Given the description of an element on the screen output the (x, y) to click on. 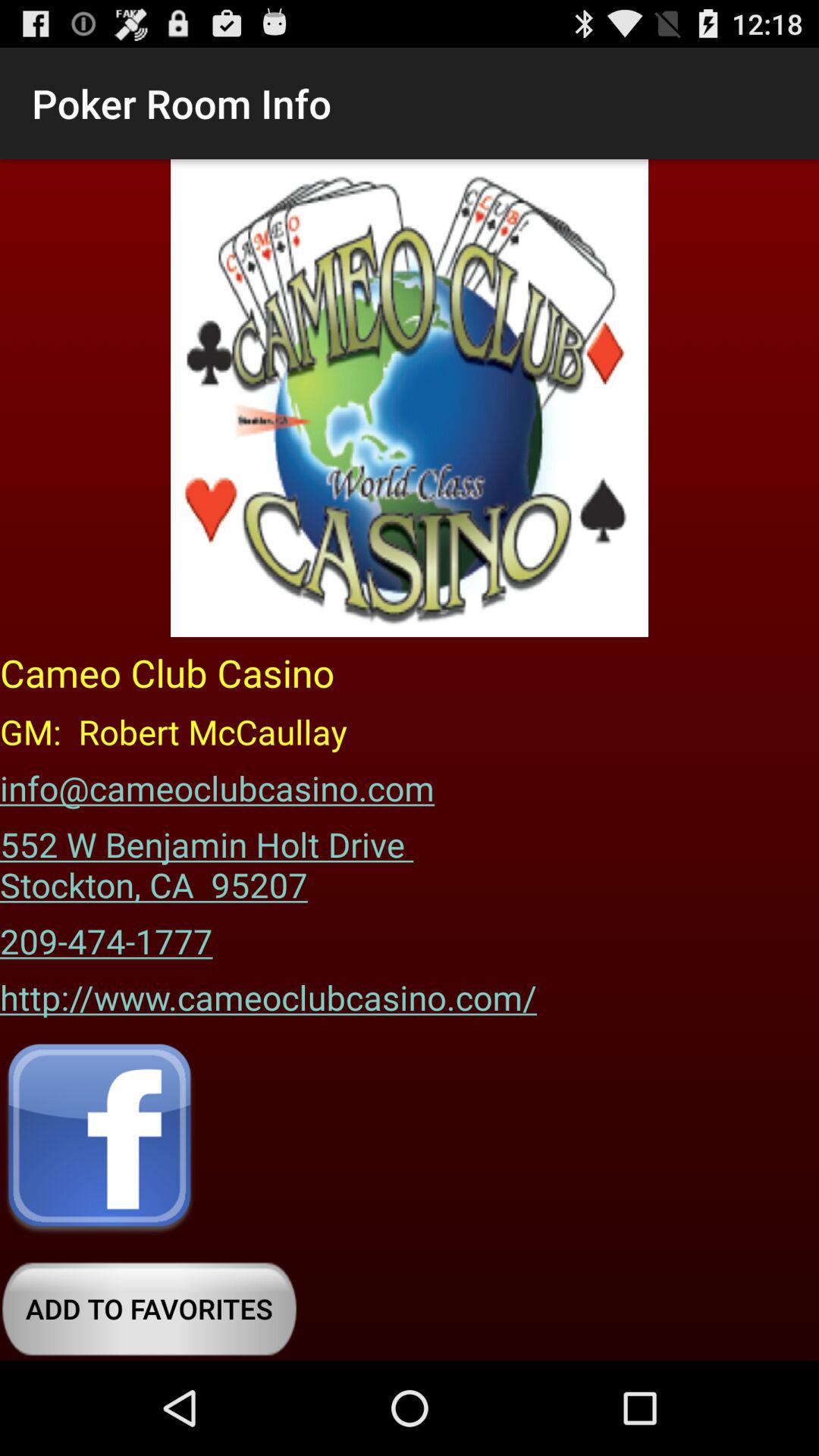
turn on the app below the 209-474-1777 item (268, 992)
